Given the description of an element on the screen output the (x, y) to click on. 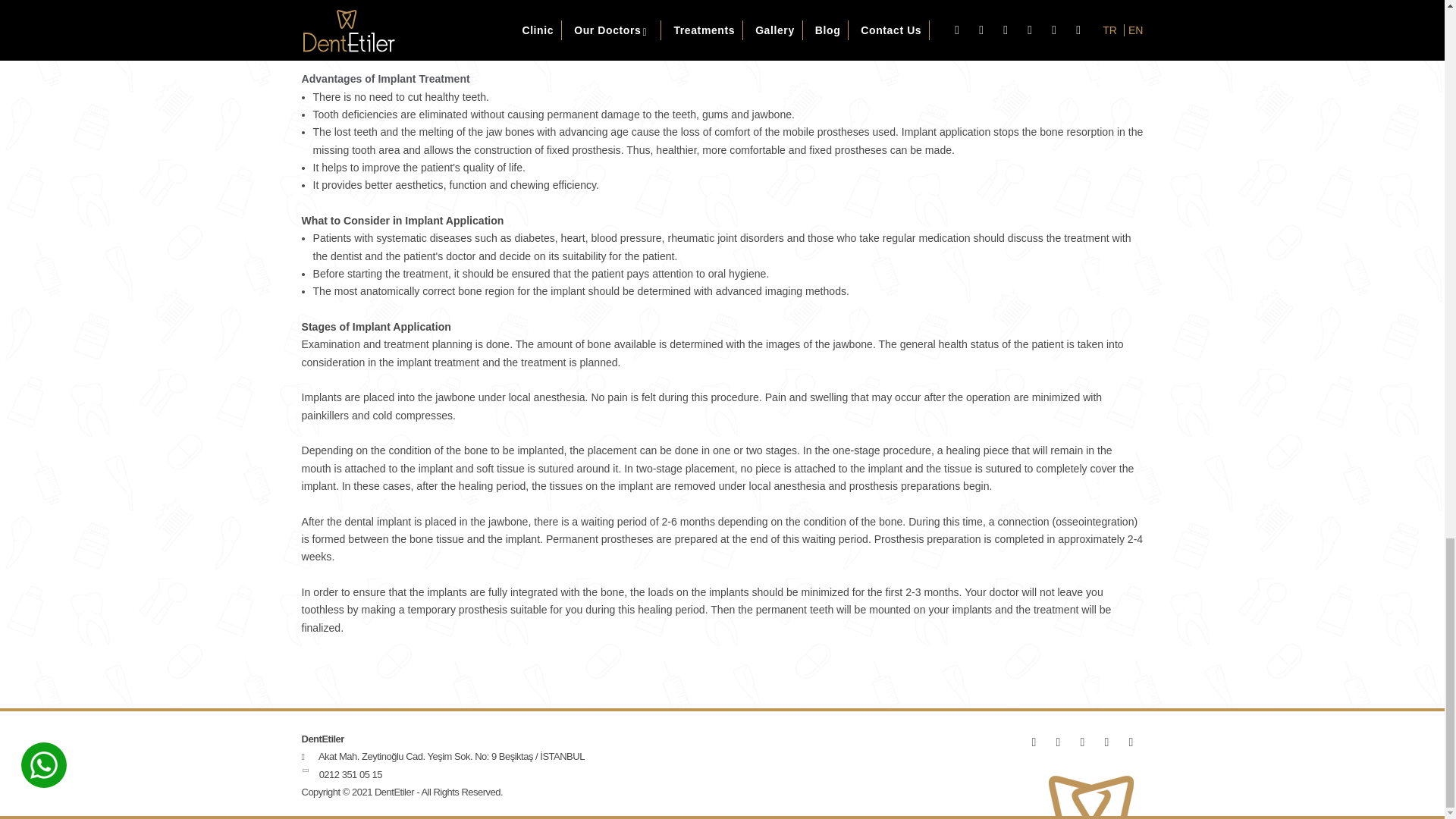
0212 351 05 15 (349, 774)
